Given the description of an element on the screen output the (x, y) to click on. 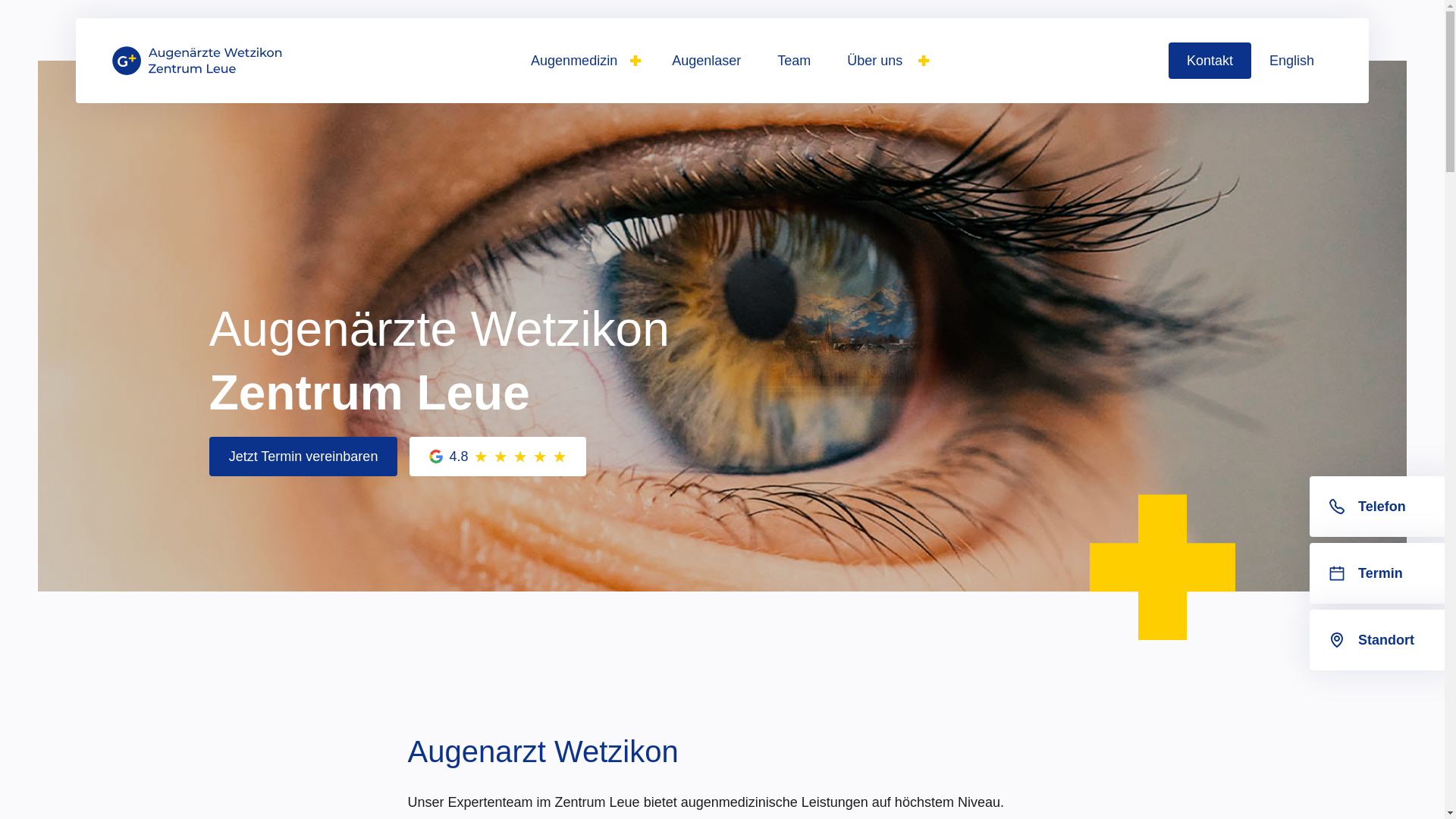
4.8 Element type: text (497, 456)
English Element type: text (1291, 60)
Augenmedizin Element type: text (582, 60)
Kontakt Element type: text (1209, 60)
Team Element type: text (793, 60)
Jetzt Termin vereinbaren Element type: text (303, 456)
Augenlaser Element type: text (706, 60)
